Given the description of an element on the screen output the (x, y) to click on. 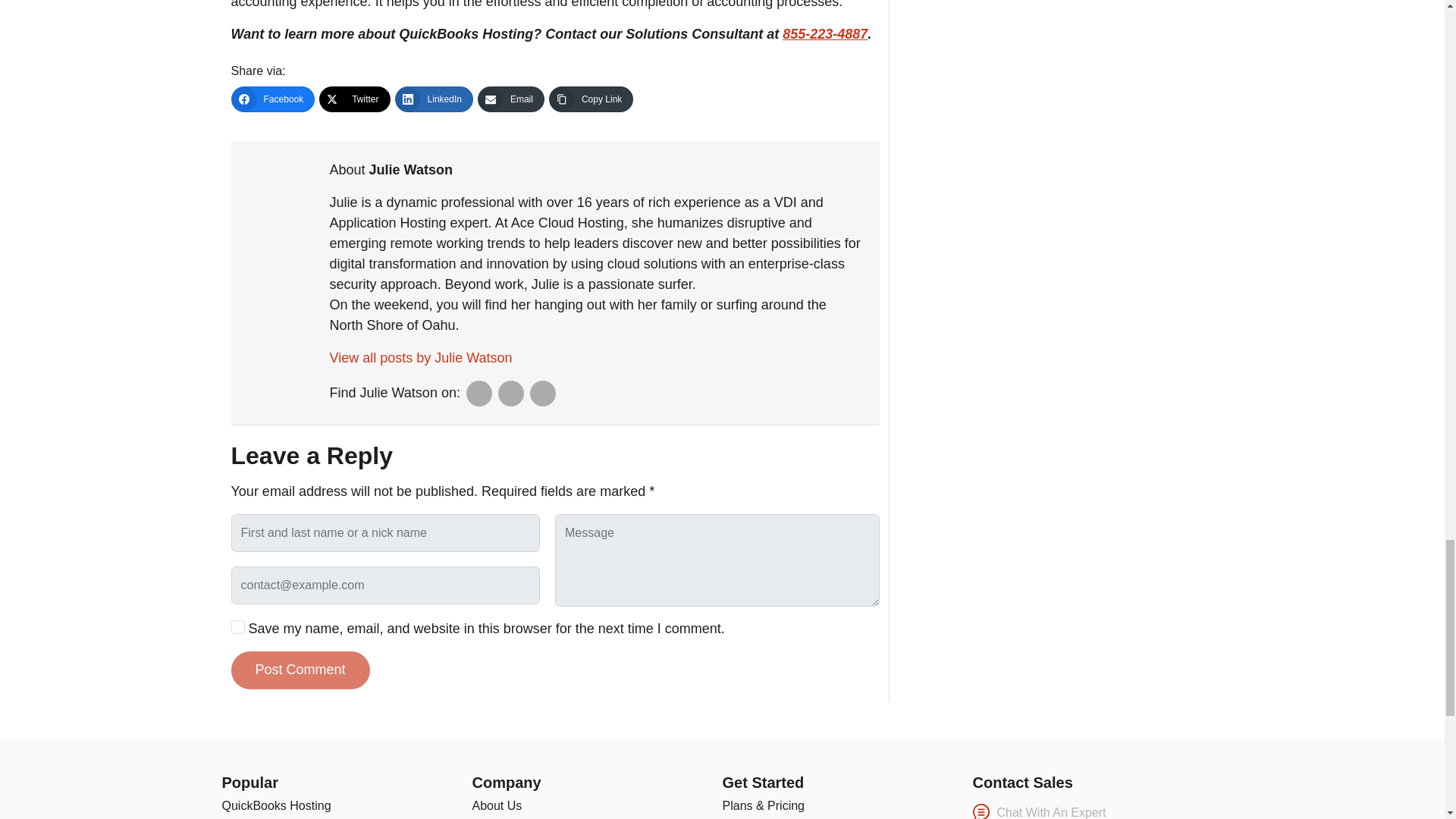
Post Comment (299, 670)
yes (237, 626)
